Given the description of an element on the screen output the (x, y) to click on. 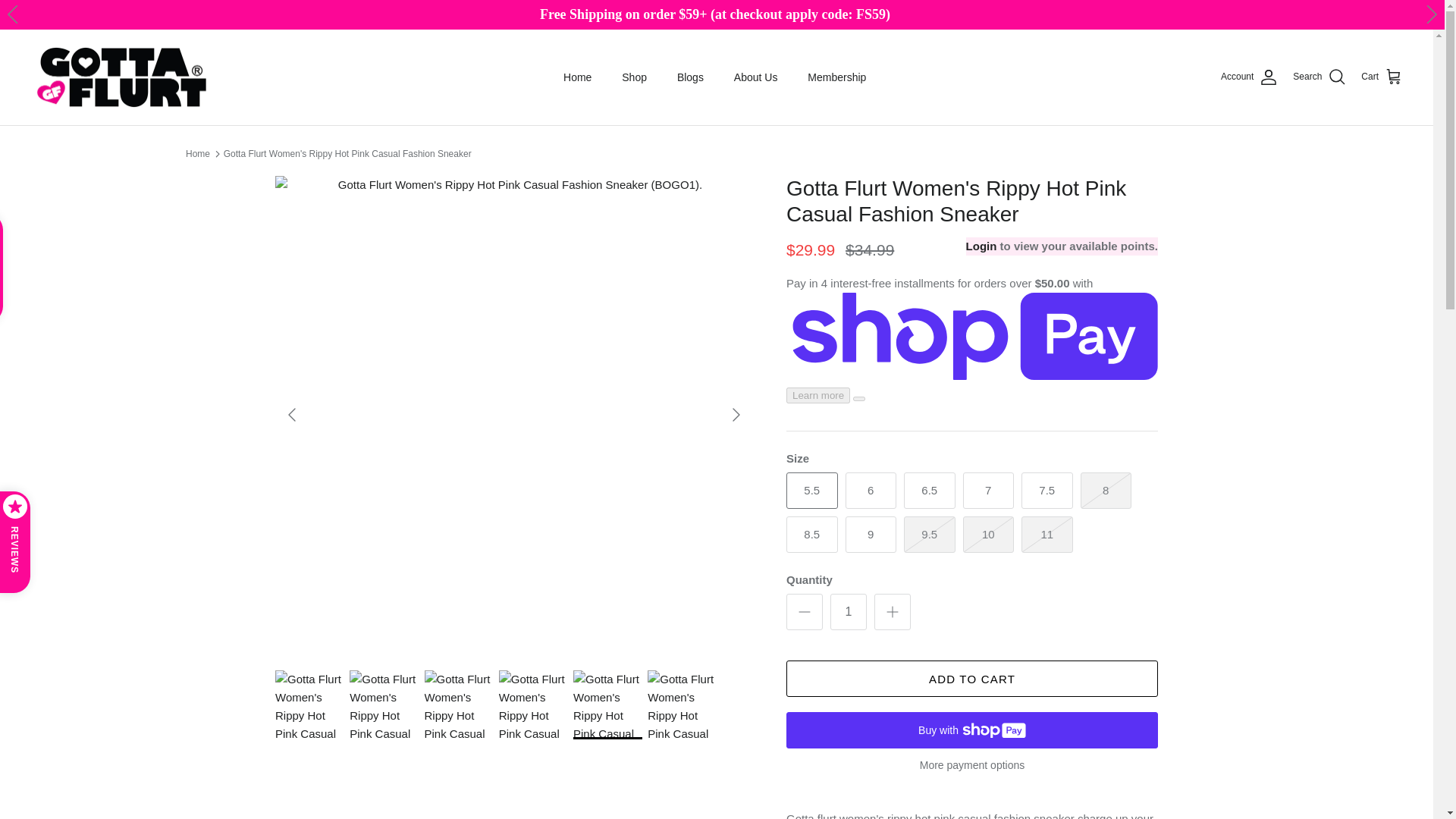
Shop (634, 77)
Search (1318, 76)
Home (577, 77)
Gotta Flurt (122, 77)
Membership (836, 77)
1 (847, 611)
Cart (1382, 76)
Blogs (690, 77)
About Us (756, 77)
Account (1249, 76)
